Given the description of an element on the screen output the (x, y) to click on. 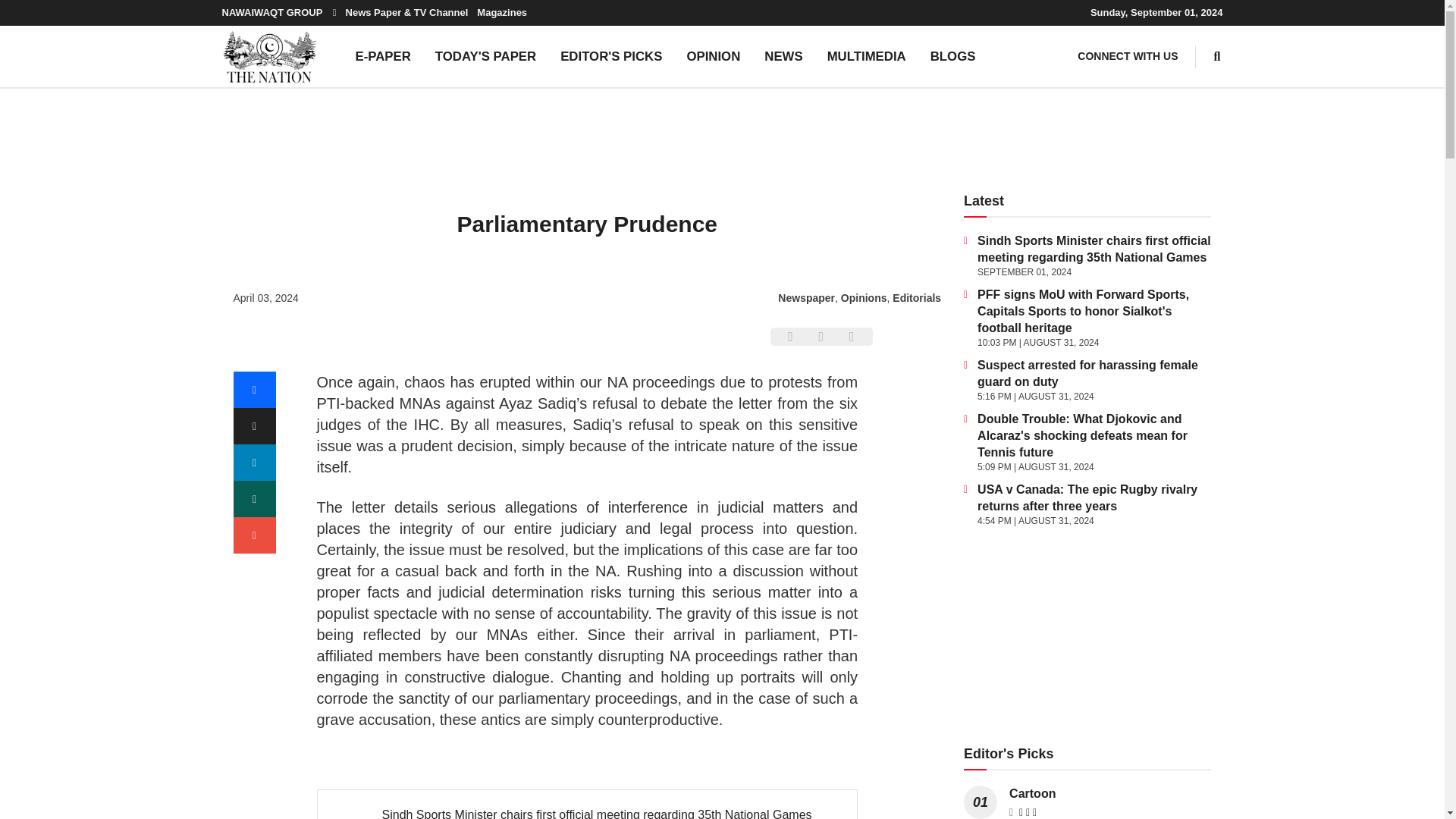
E-PAPER (382, 55)
EDITOR'S PICKS (611, 55)
Magazines (502, 12)
BLOGS (953, 55)
MULTIMEDIA (866, 55)
OPINION (713, 55)
NEWS (782, 55)
TODAY'S PAPER (485, 55)
